Given the description of an element on the screen output the (x, y) to click on. 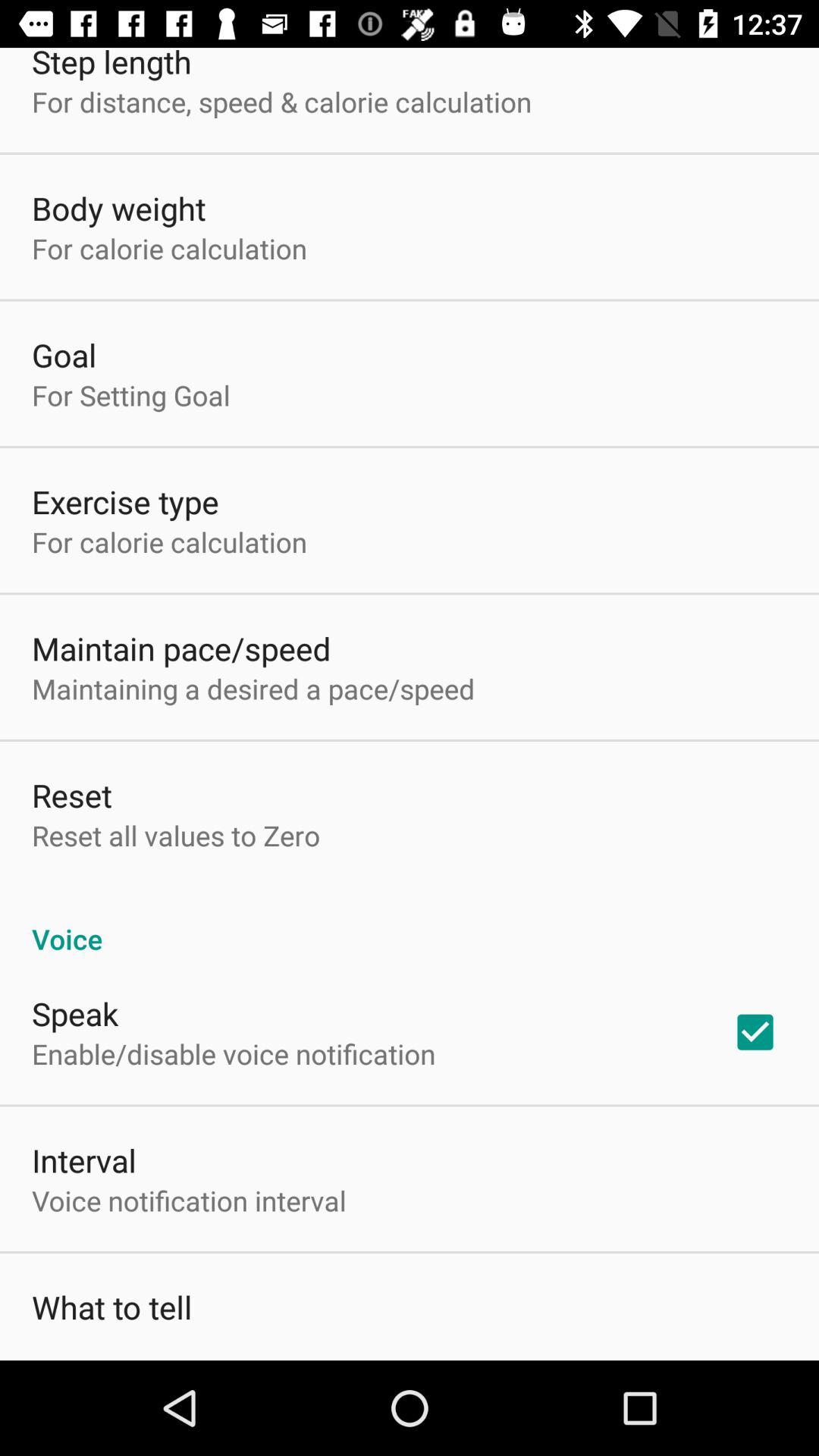
turn on the item above the exercise type (130, 395)
